Given the description of an element on the screen output the (x, y) to click on. 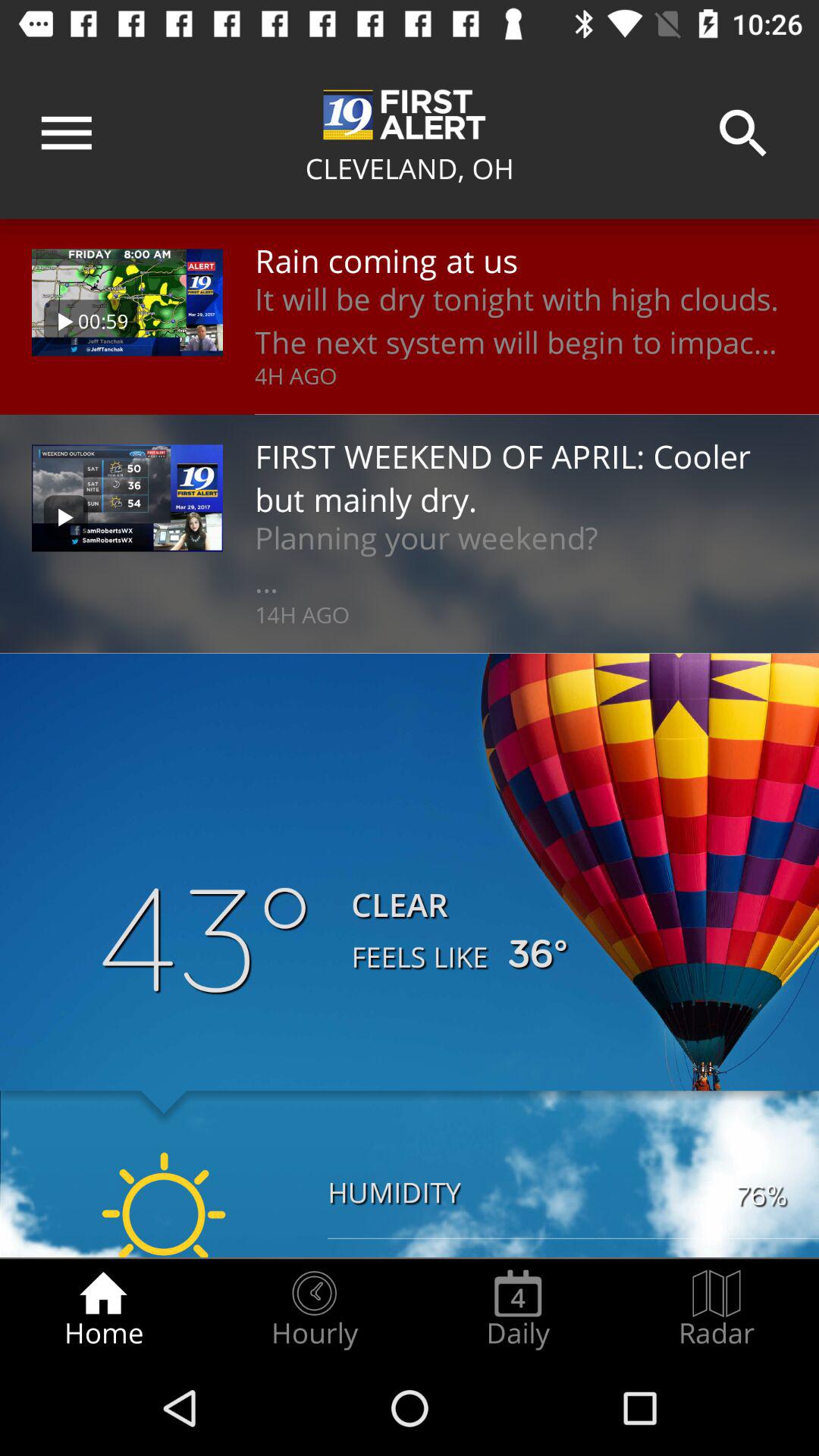
choose icon to the right of daily radio button (716, 1309)
